Given the description of an element on the screen output the (x, y) to click on. 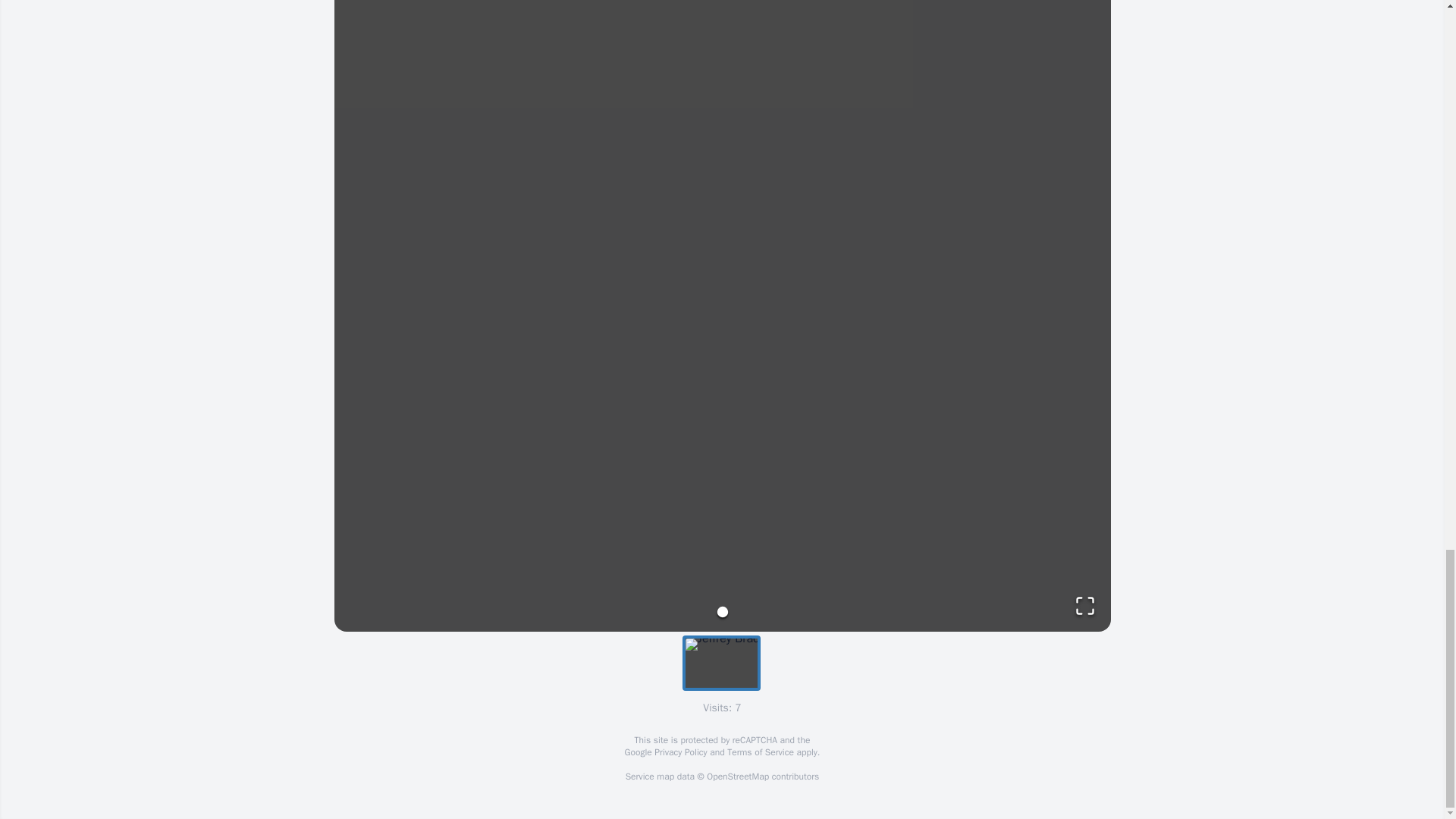
OpenStreetMap (737, 776)
Terms of Service (759, 752)
Privacy Policy (679, 752)
